Given the description of an element on the screen output the (x, y) to click on. 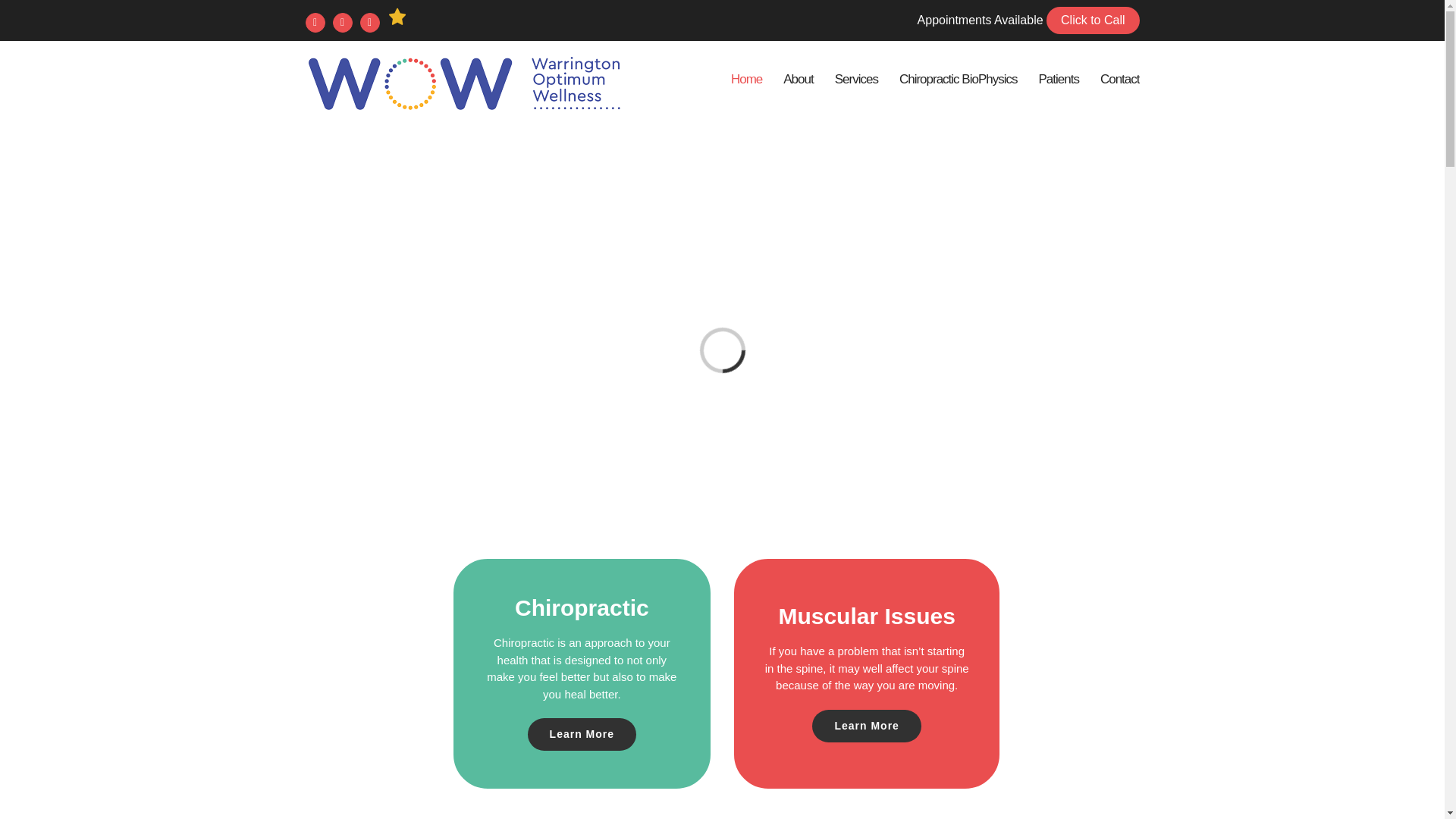
LinkedIn (368, 22)
Facebook (314, 22)
Instagram (341, 22)
Facebook (314, 22)
Learn More (581, 734)
Instagram (341, 22)
Custom (396, 16)
LinkedIn (368, 22)
Learn More (866, 726)
Custom (396, 16)
